Given the description of an element on the screen output the (x, y) to click on. 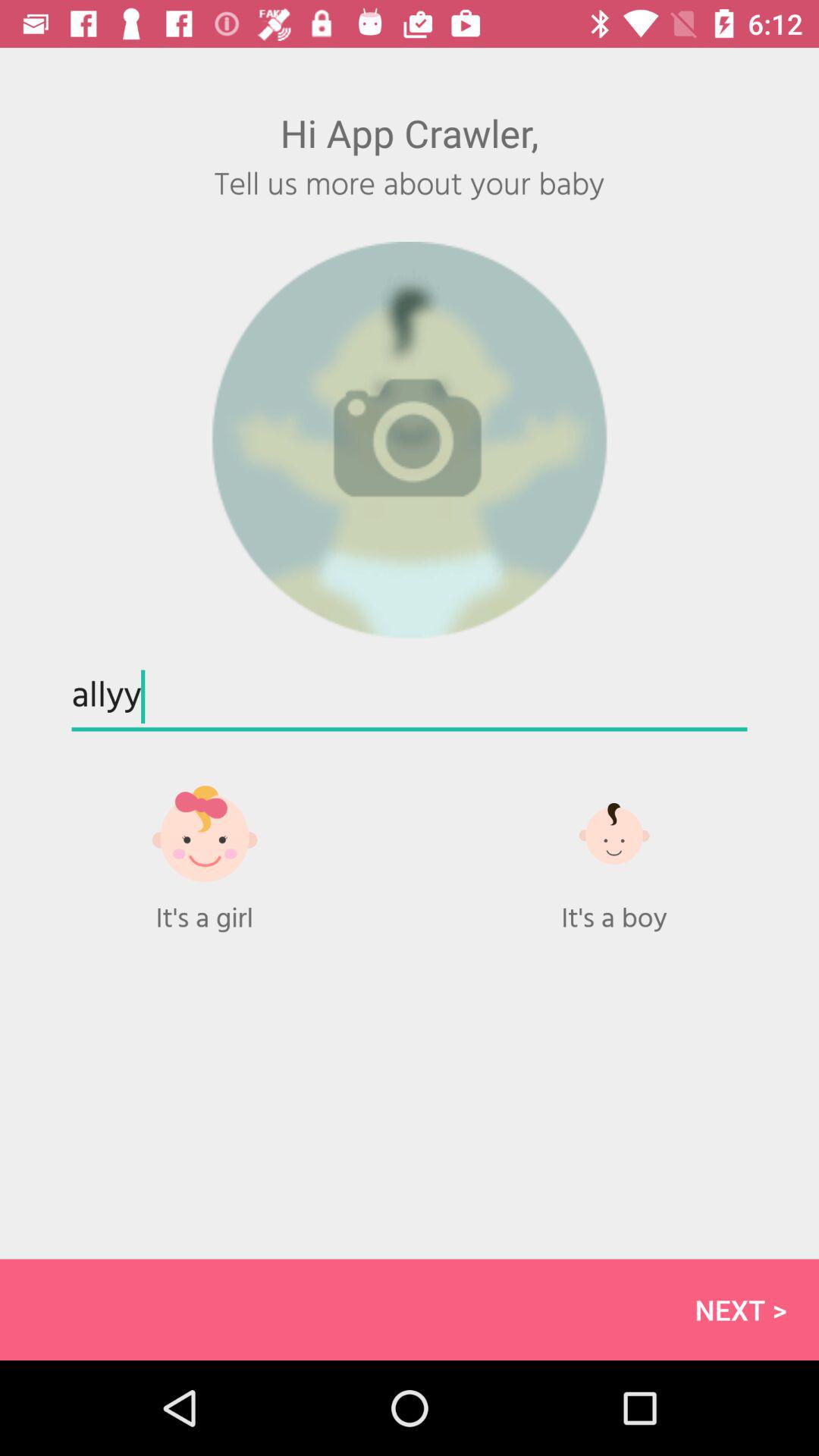
toggle gender to boy (614, 833)
